Given the description of an element on the screen output the (x, y) to click on. 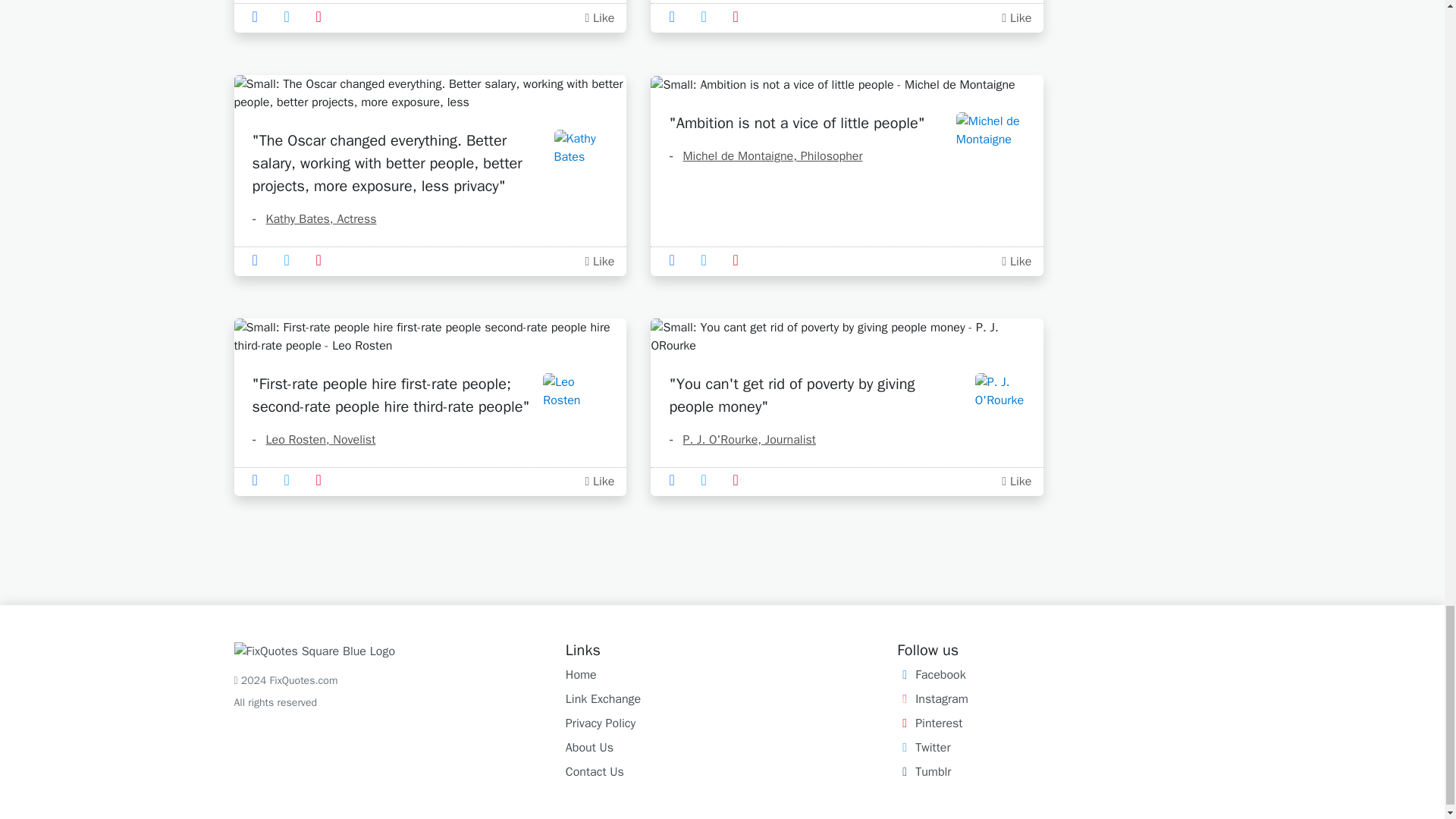
P. J. O'Rourke, Journalist (741, 439)
Leo Rosten, Novelist (313, 439)
Michel de Montaigne, Philosopher (764, 155)
Kathy Bates, Actress (313, 218)
